Given the description of an element on the screen output the (x, y) to click on. 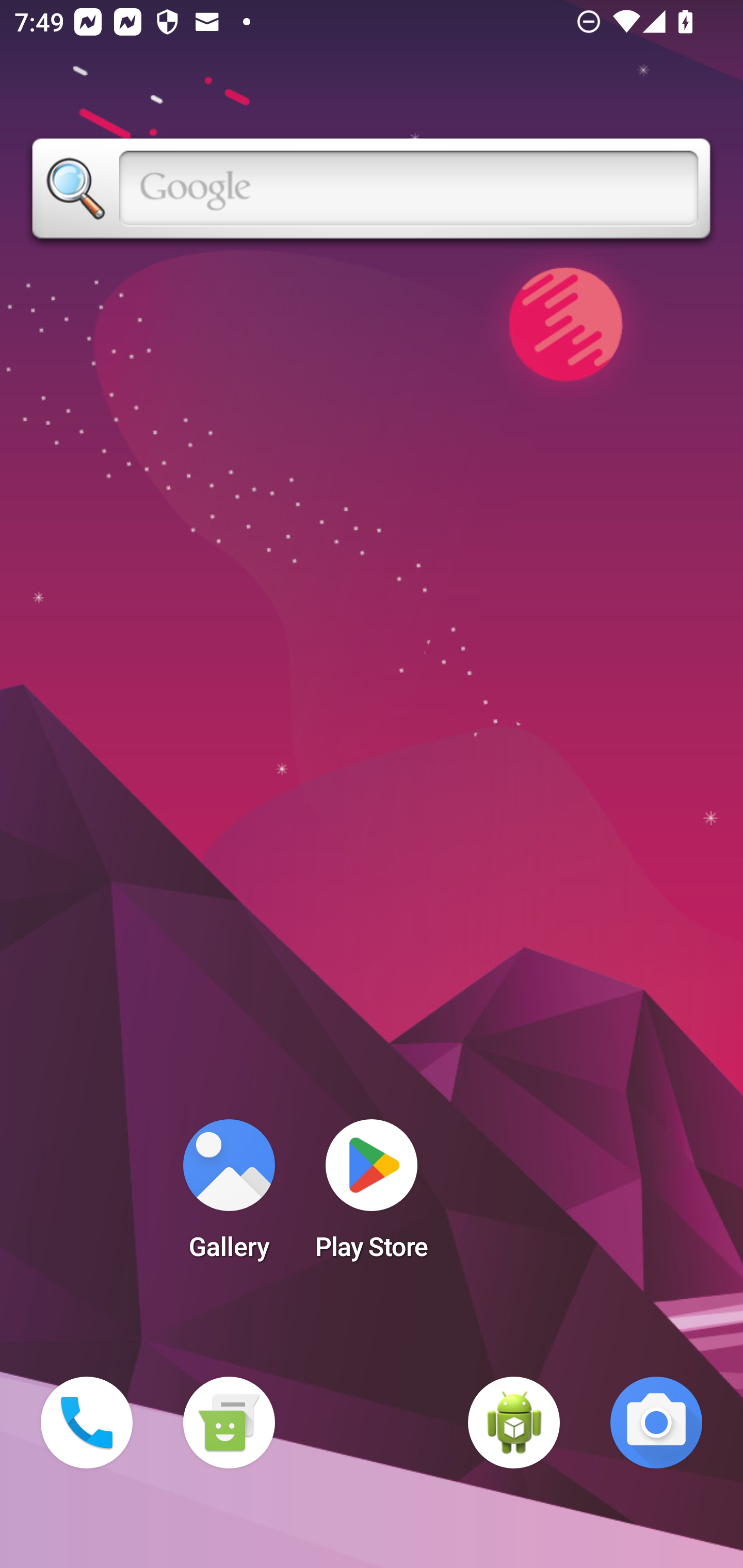
Gallery (228, 1195)
Play Store (371, 1195)
Phone (86, 1422)
Messaging (228, 1422)
WebView Browser Tester (513, 1422)
Camera (656, 1422)
